Given the description of an element on the screen output the (x, y) to click on. 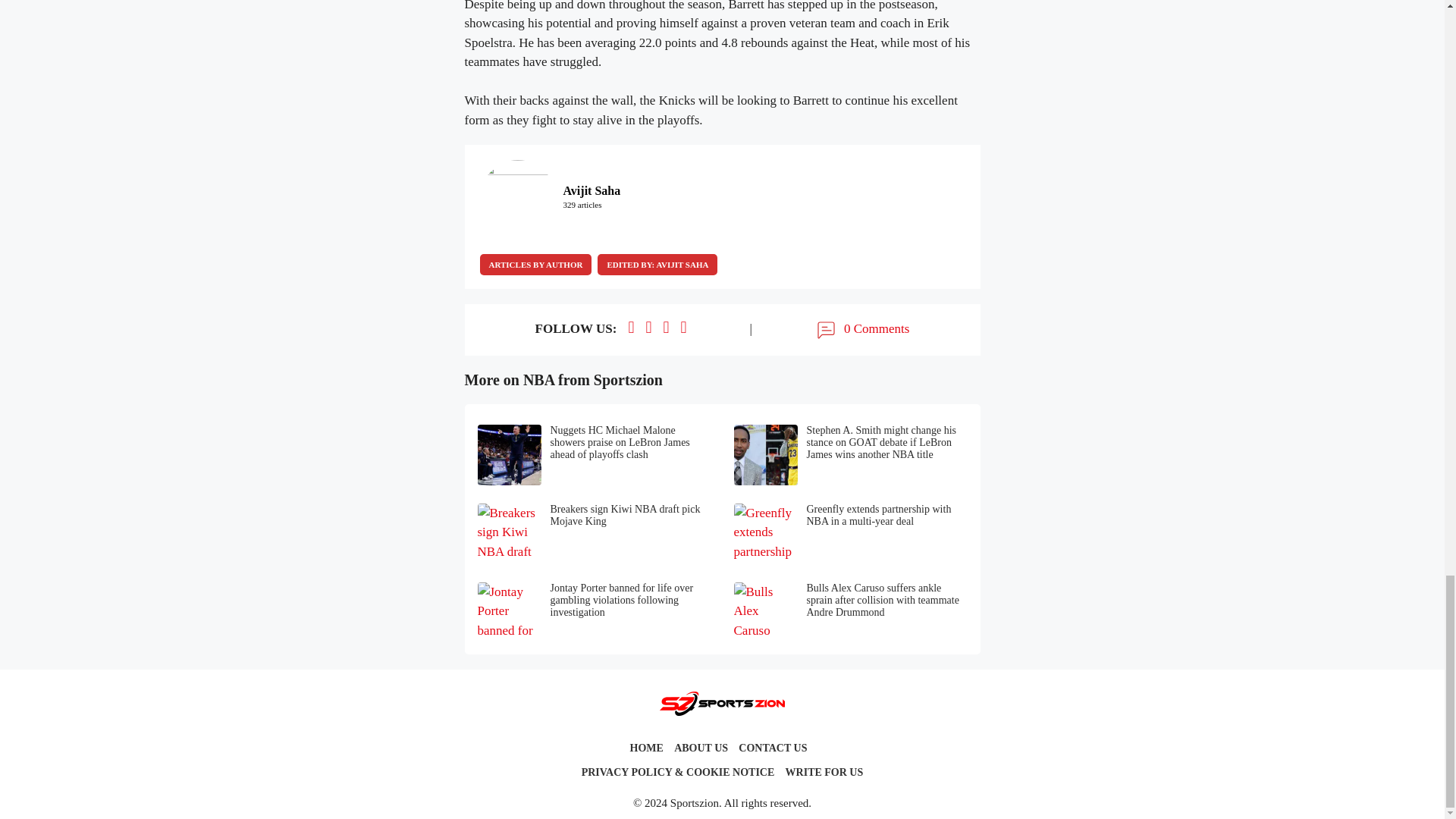
ARTICLES BY AUTHOR (535, 264)
EDITED BY: AVIJIT SAHA (656, 264)
Greenfly extends partnership with NBA in a multi-year deal (850, 533)
Breakers sign Kiwi NBA draft pick Mojave King (594, 533)
0 Comments (861, 329)
